Given the description of an element on the screen output the (x, y) to click on. 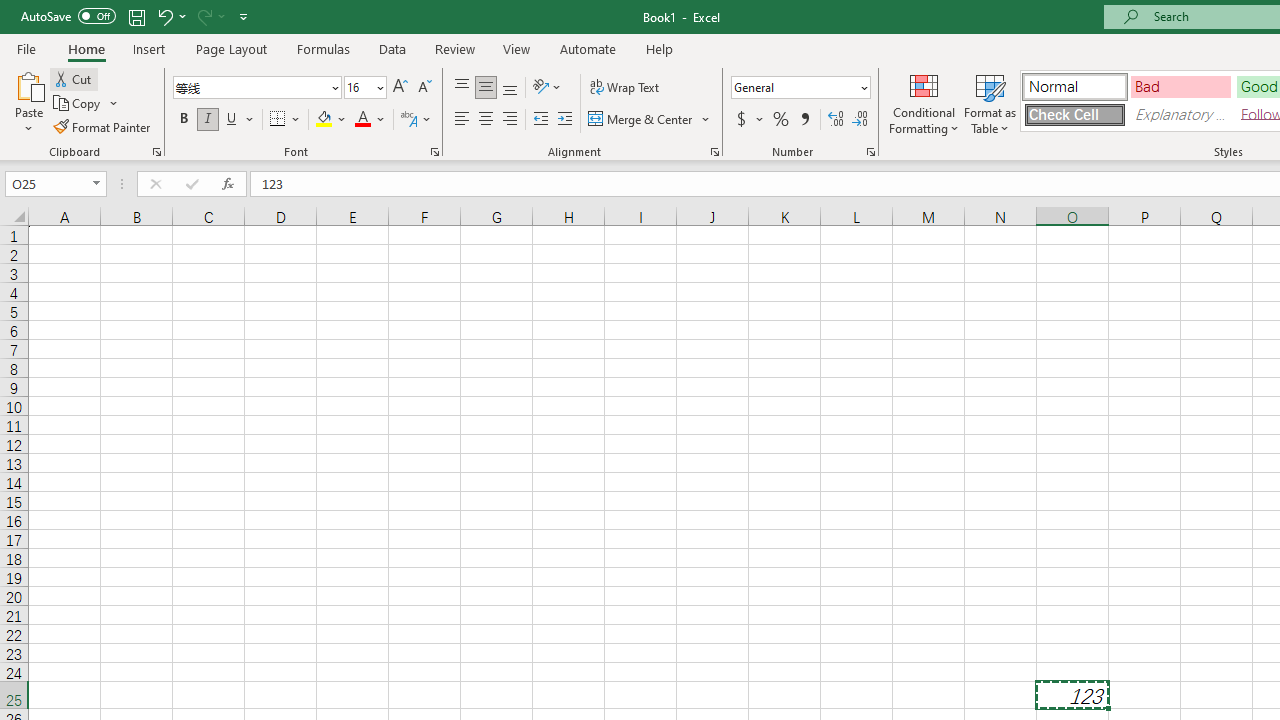
Bold (183, 119)
Merge & Center (649, 119)
Comma Style (804, 119)
Middle Align (485, 87)
Bad (1180, 86)
Copy (85, 103)
Center (485, 119)
Bottom Align (509, 87)
Paste (28, 102)
Increase Decimal (836, 119)
